Given the description of an element on the screen output the (x, y) to click on. 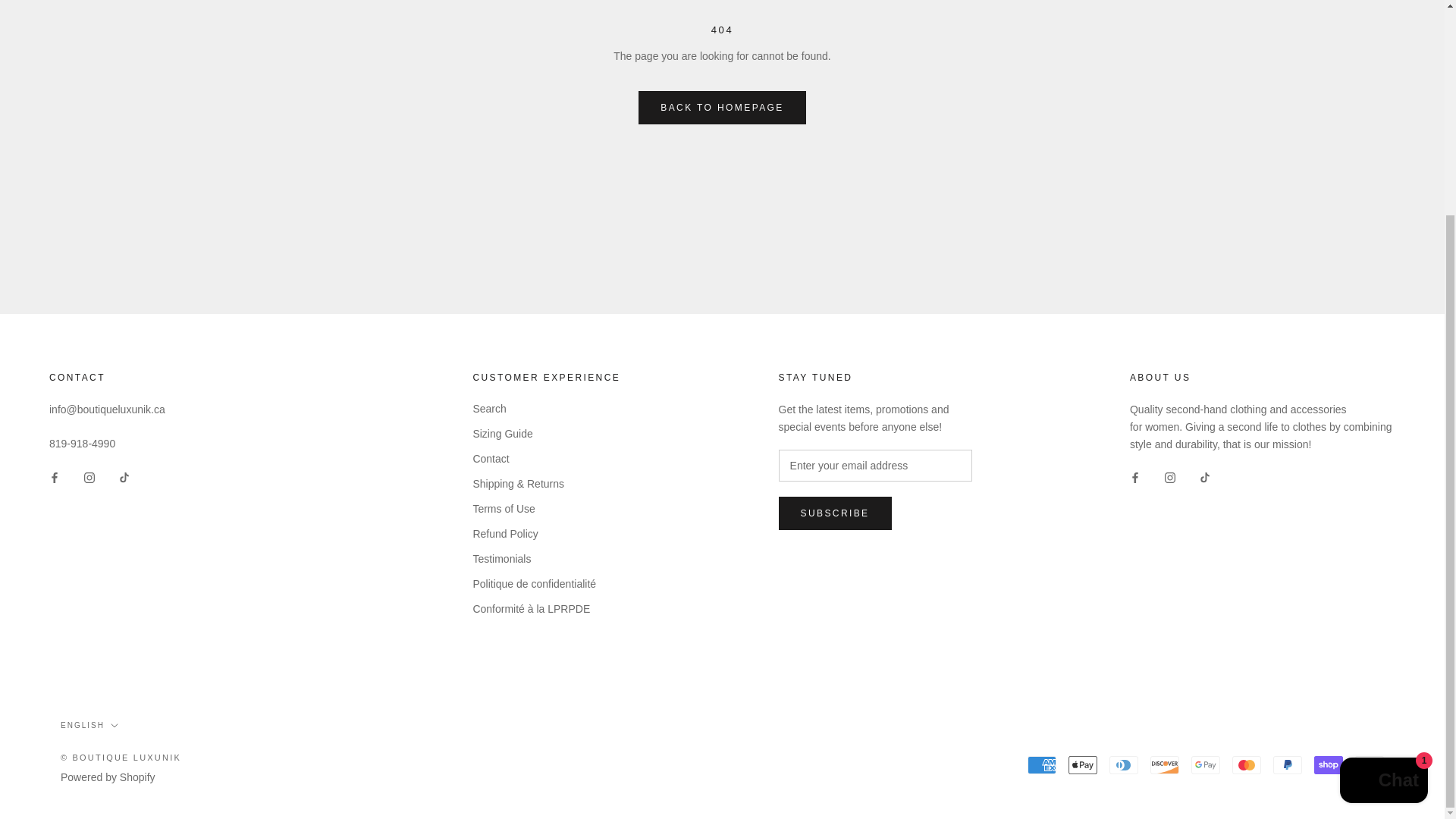
Mastercard (1245, 764)
Visa (1369, 764)
American Express (1042, 764)
Discover (1164, 764)
Shopify online store chat (1383, 499)
Google Pay (1205, 764)
Diners Club (1123, 764)
Shop Pay (1328, 764)
Apple Pay (1082, 764)
PayPal (1286, 764)
